Given the description of an element on the screen output the (x, y) to click on. 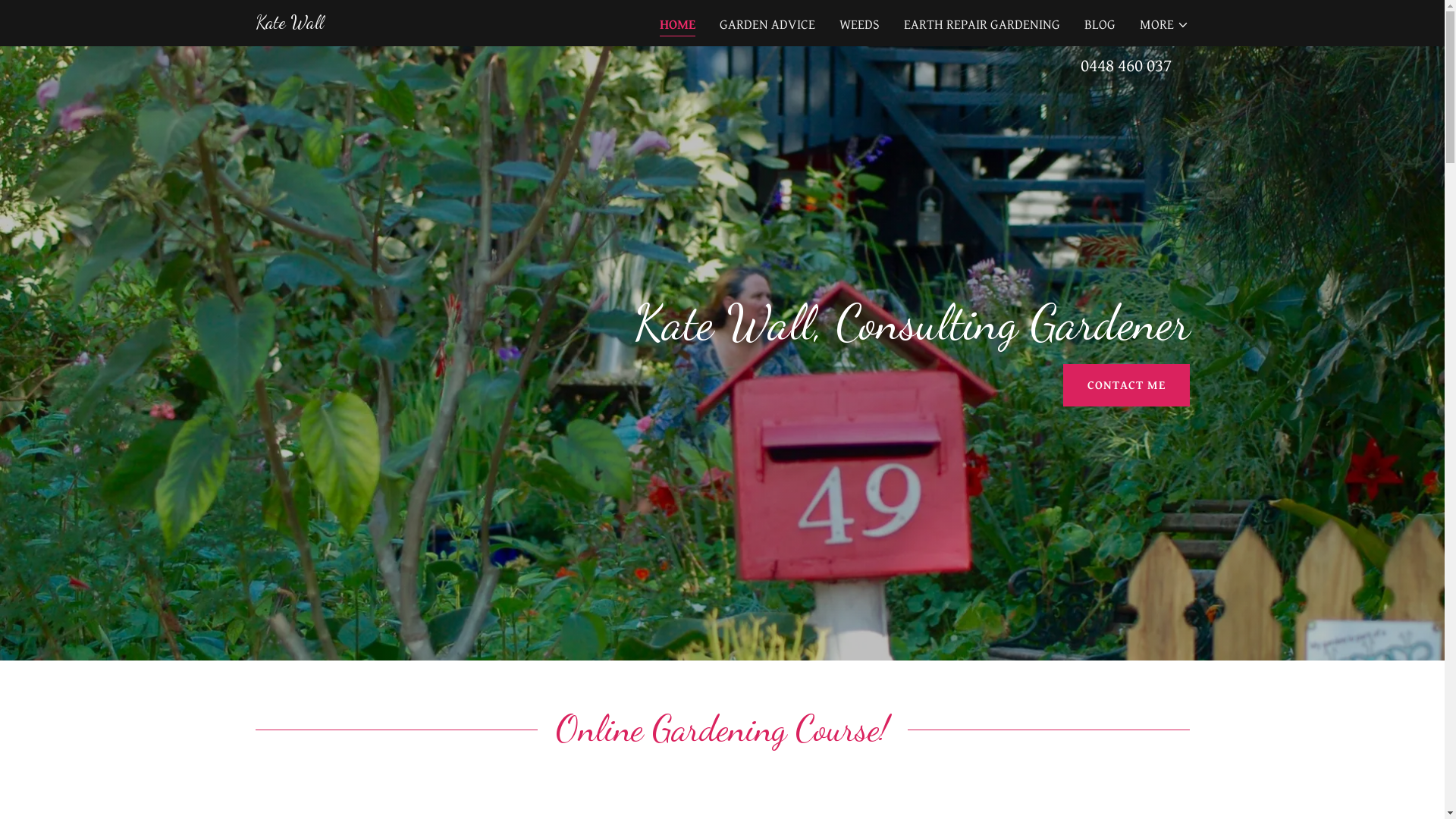
0448 460 037 Element type: text (1124, 65)
HOME Element type: text (677, 25)
EARTH REPAIR GARDENING Element type: text (981, 24)
WEEDS Element type: text (859, 24)
BLOG Element type: text (1099, 24)
GARDEN ADVICE Element type: text (767, 24)
MORE Element type: text (1164, 24)
CONTACT ME Element type: text (1126, 385)
Kate Wall Element type: text (288, 23)
